Given the description of an element on the screen output the (x, y) to click on. 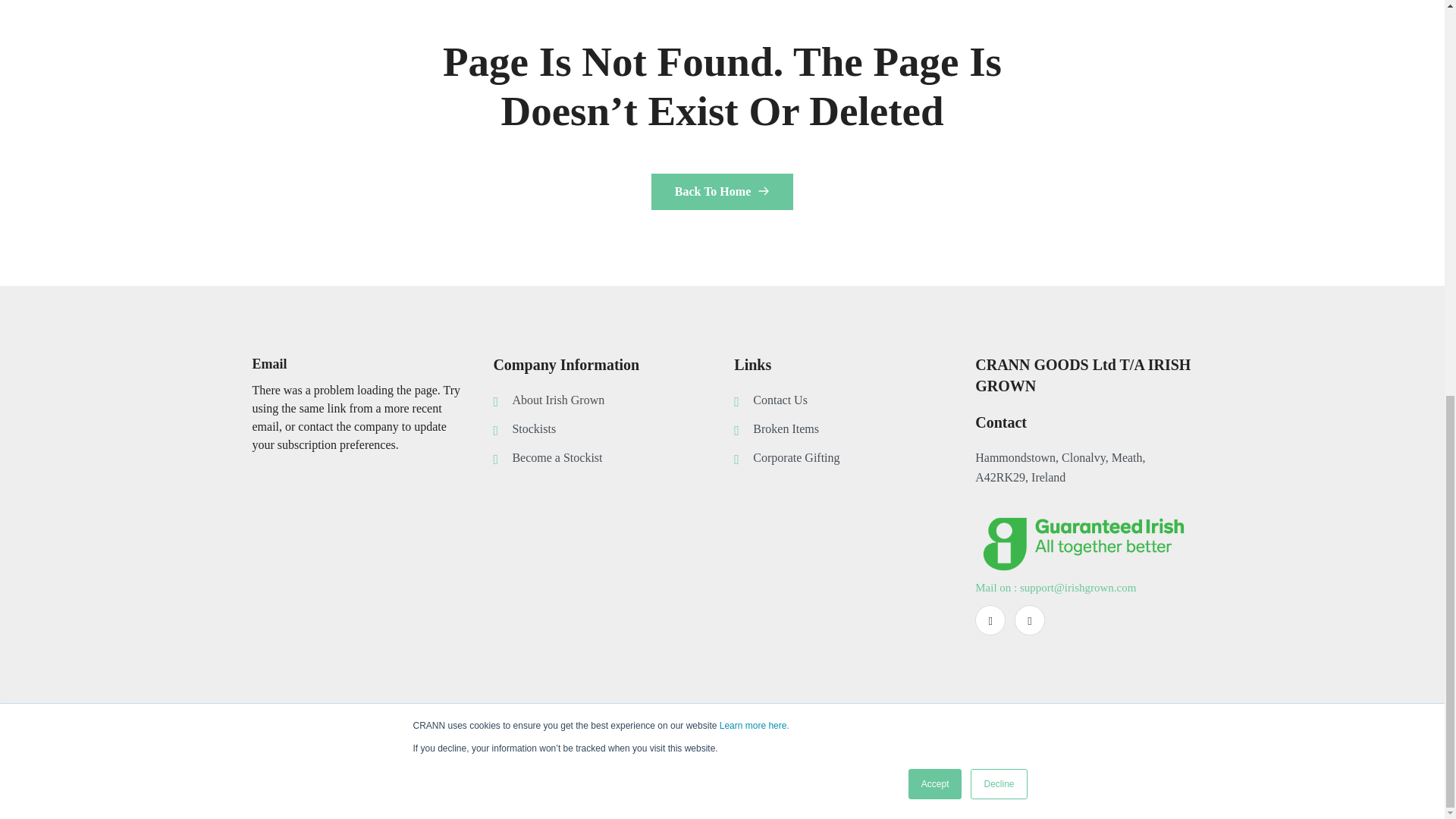
Decline (998, 18)
Become a Stockist (611, 457)
Accept (935, 18)
Embedded CTA (441, 757)
Privacy Policy (1156, 772)
Stockists (611, 428)
Corporate Gifting (851, 457)
Contact Us (851, 400)
About Irish Grown (611, 400)
Broken Items (851, 428)
Back To Home (721, 191)
